Given the description of an element on the screen output the (x, y) to click on. 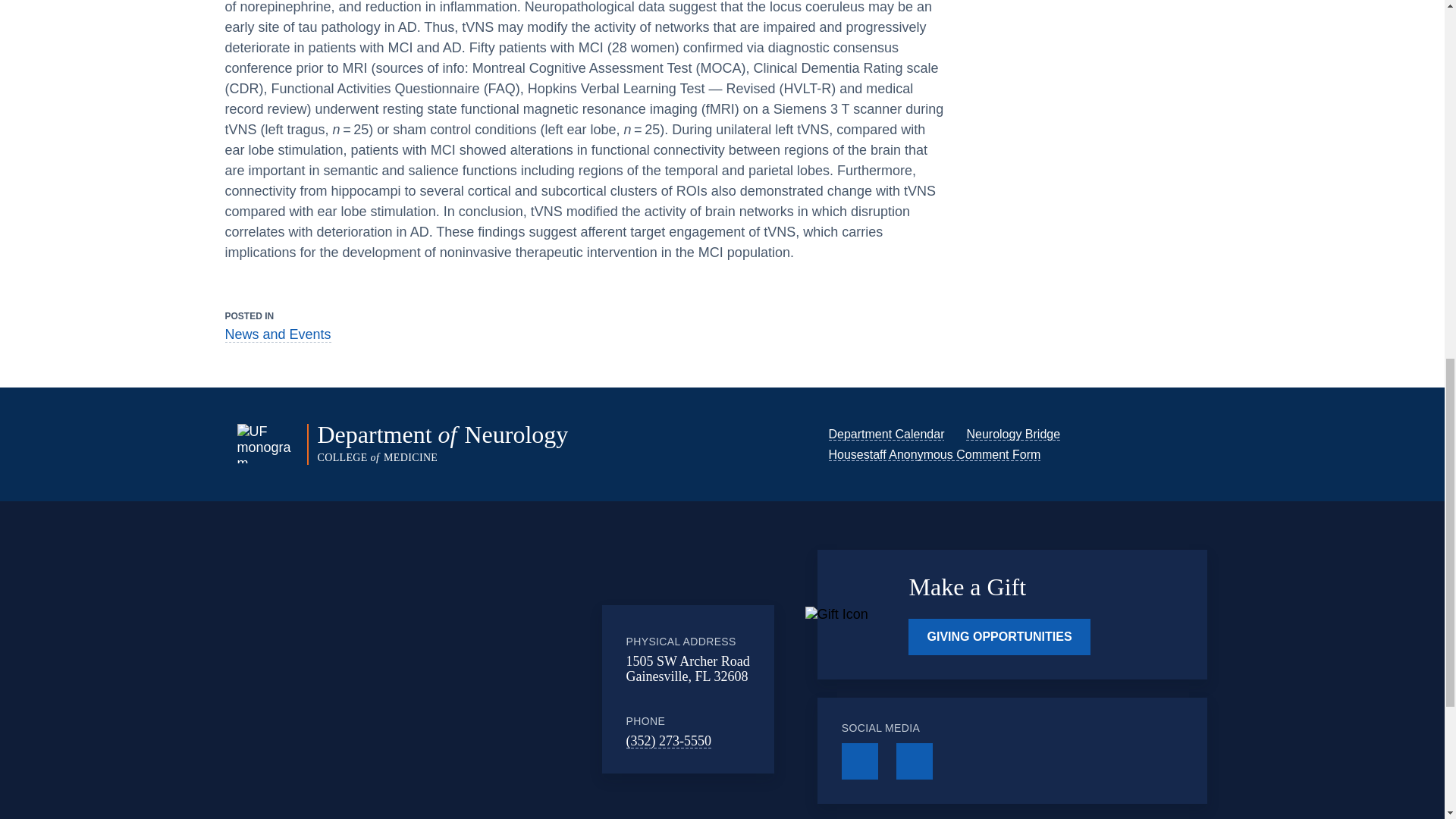
Google Maps Embed (477, 685)
Department Calendar (885, 433)
Housestaff Anonymous Comment Form (934, 454)
Neurology Bridge (1012, 433)
